Given the description of an element on the screen output the (x, y) to click on. 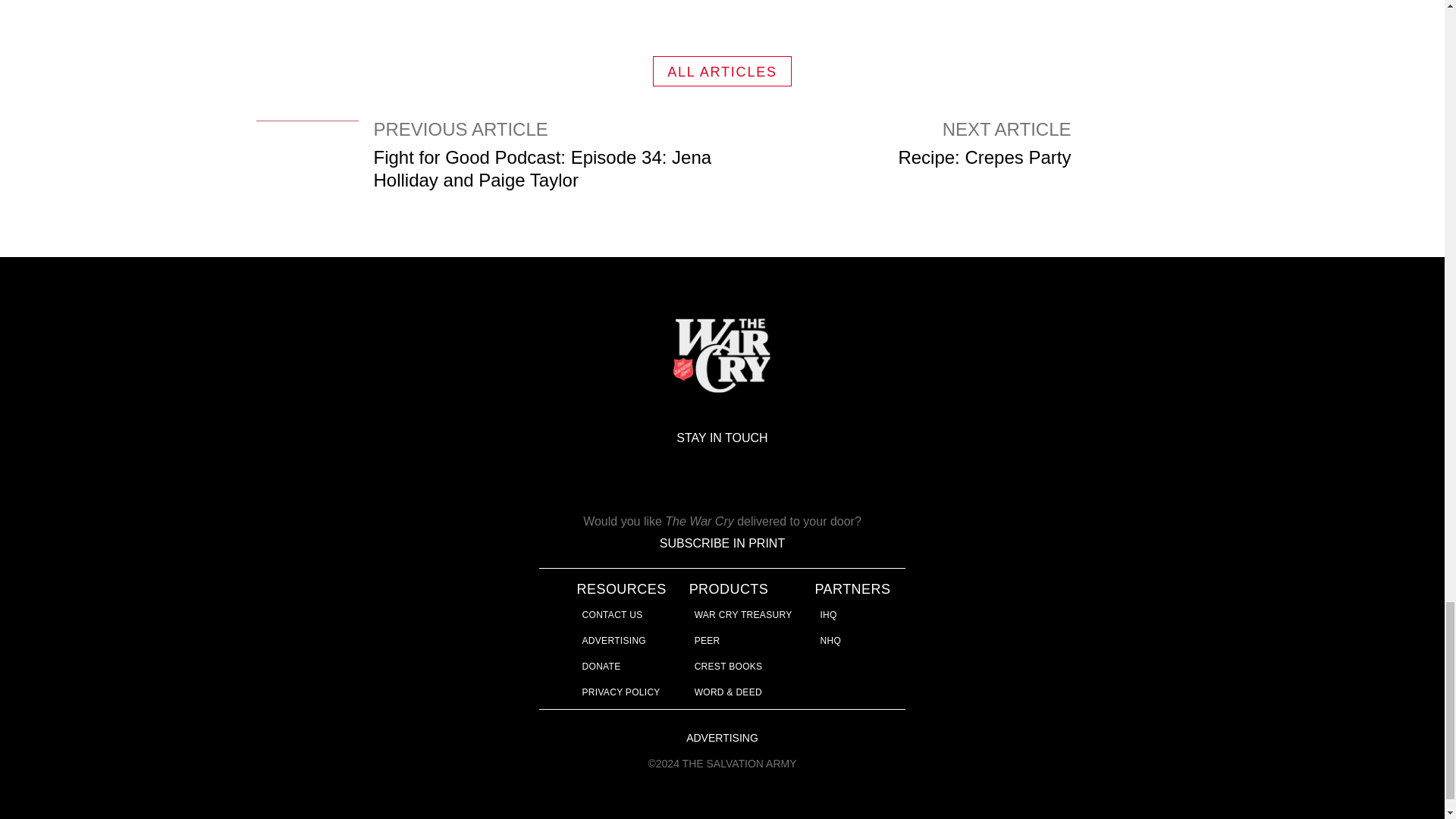
PRIVACY POLICY (621, 692)
ADVERTISING (614, 640)
ALL ARTICLES (1043, 171)
CONTACT US (722, 71)
SUBSCRIBE IN PRINT (612, 614)
DONATE (721, 543)
